Given the description of an element on the screen output the (x, y) to click on. 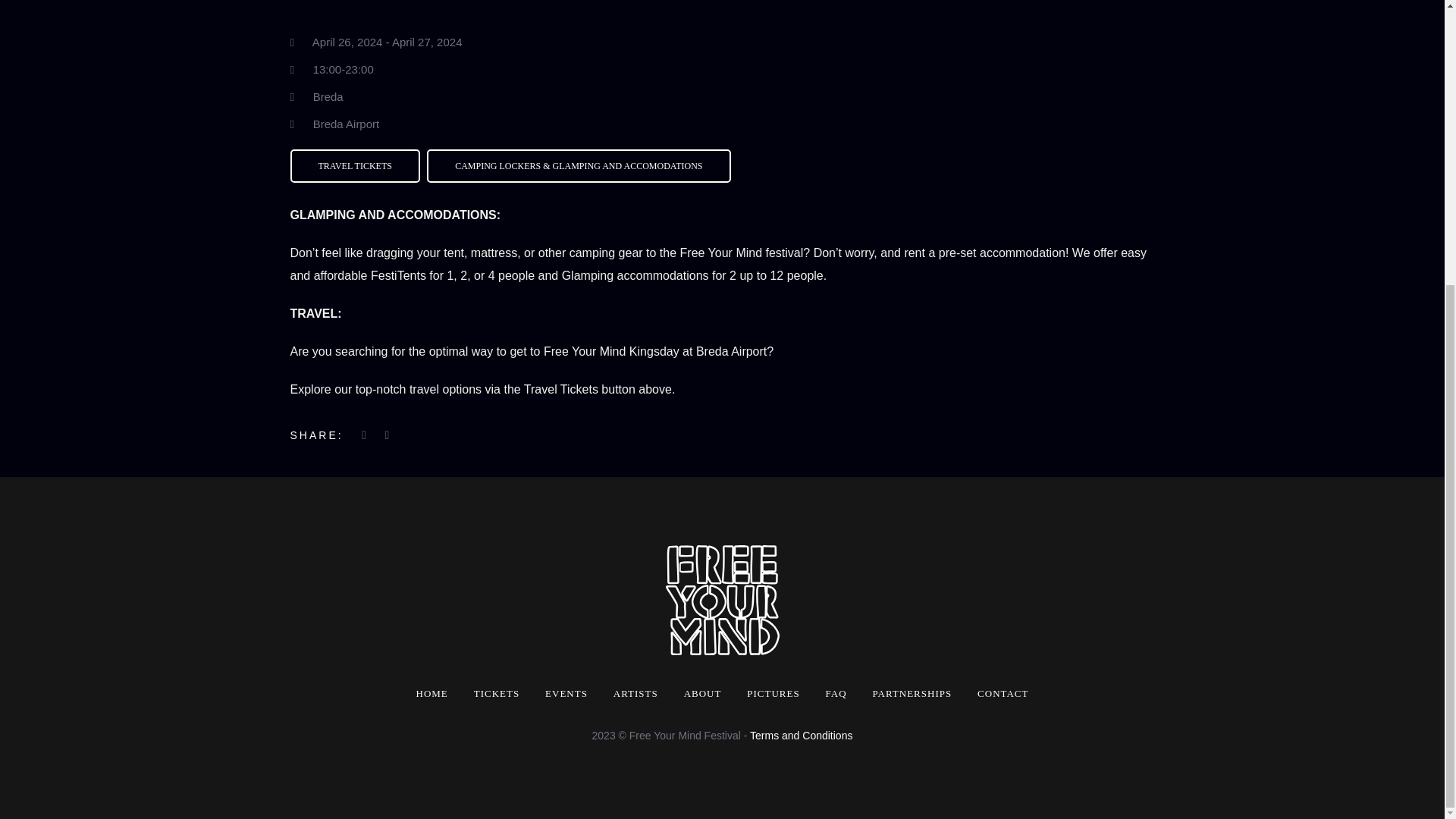
TICKETS (497, 693)
ABOUT (702, 693)
TRAVEL TICKETS (357, 164)
HOME (432, 693)
EVENTS (566, 693)
ARTISTS (635, 693)
